Given the description of an element on the screen output the (x, y) to click on. 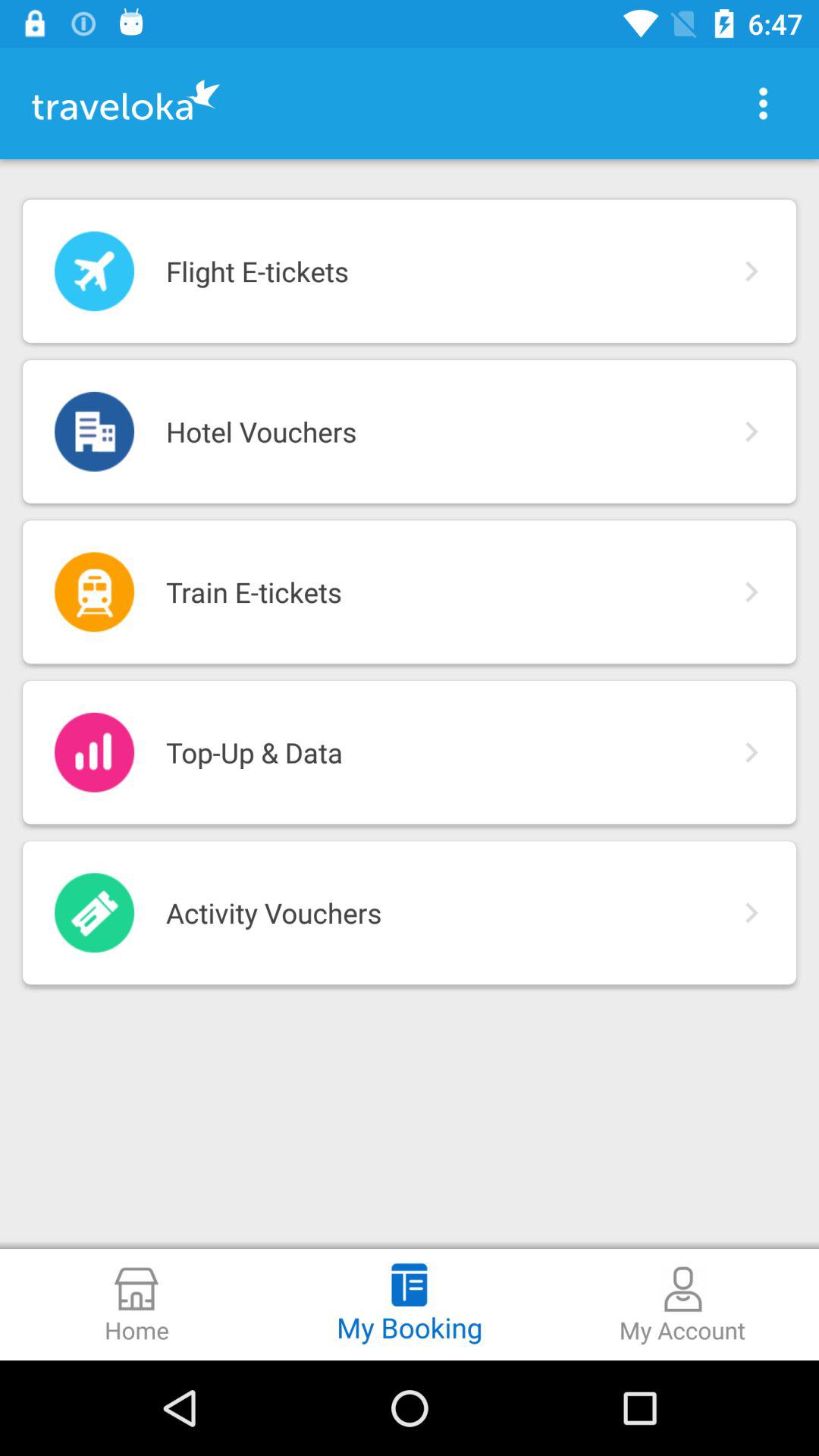
main menu (763, 103)
